Given the description of an element on the screen output the (x, y) to click on. 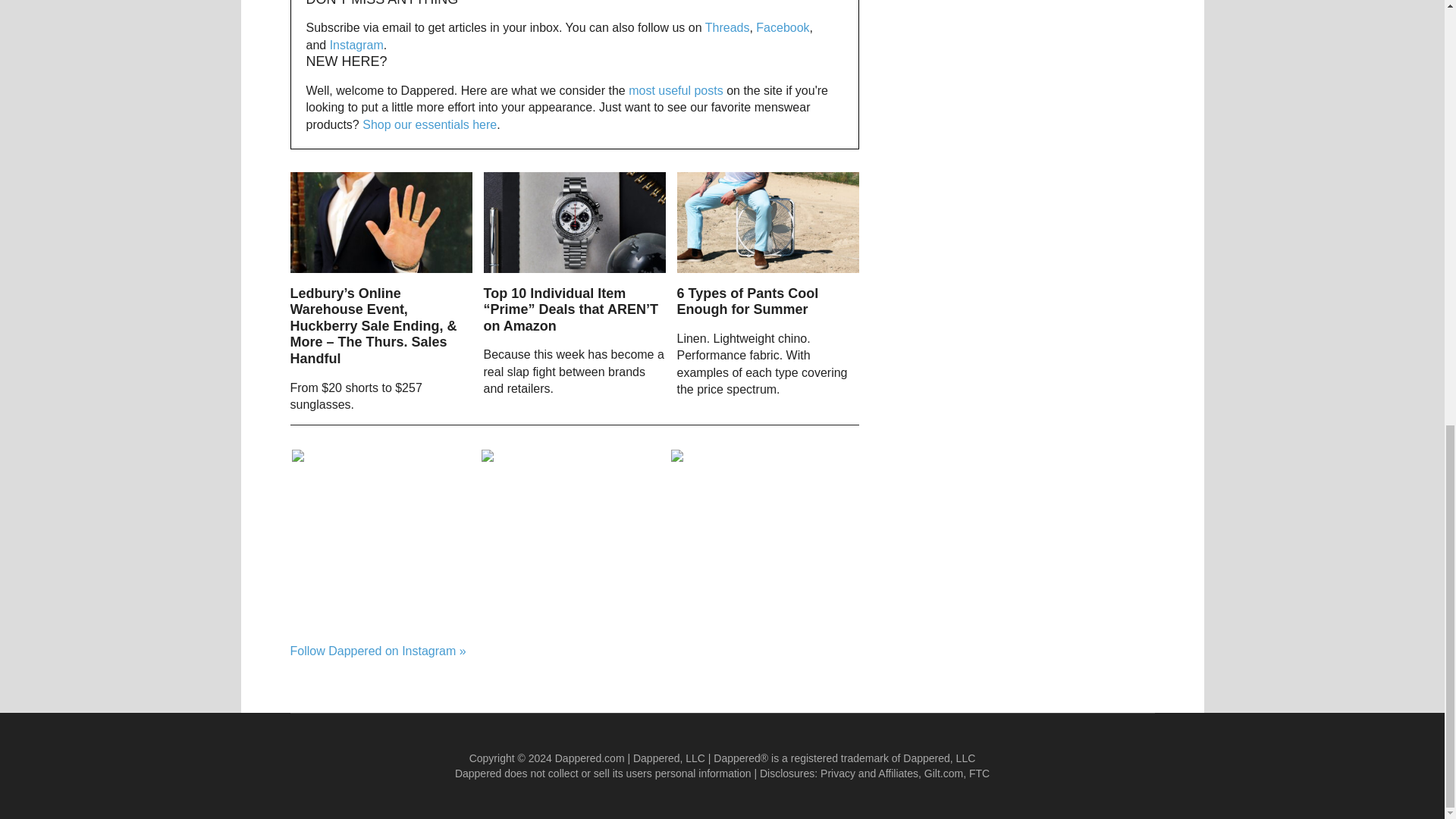
Privacy and Affiliate Disclosure (869, 773)
Gilt Disclosure (943, 773)
most useful posts (675, 90)
Shop our essentials here (429, 124)
Instagram (357, 44)
Threads (726, 27)
Dappered FTC Disclosures (979, 773)
Facebook (782, 27)
